Given the description of an element on the screen output the (x, y) to click on. 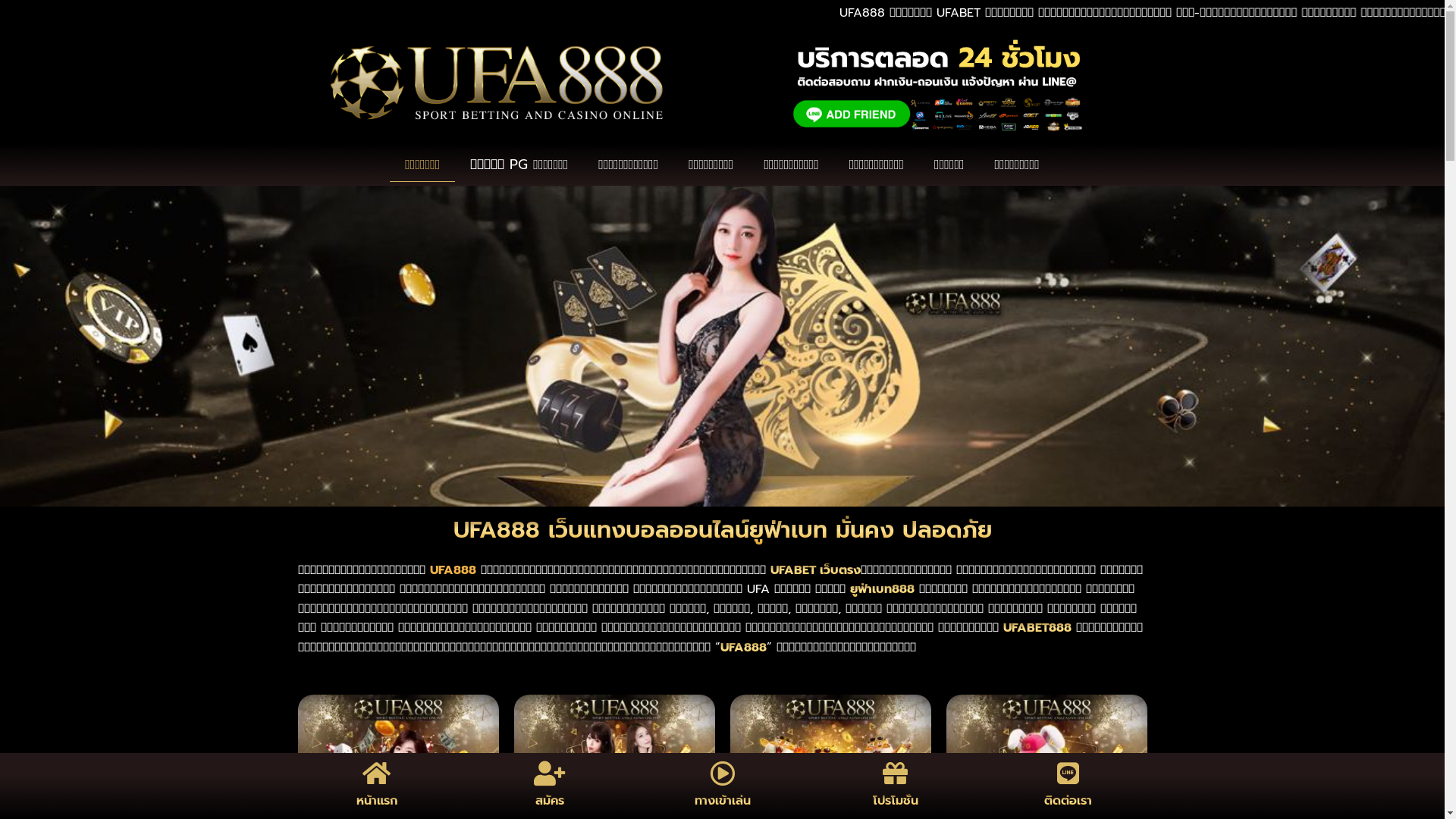
UFA888 Element type: text (452, 570)
